Given the description of an element on the screen output the (x, y) to click on. 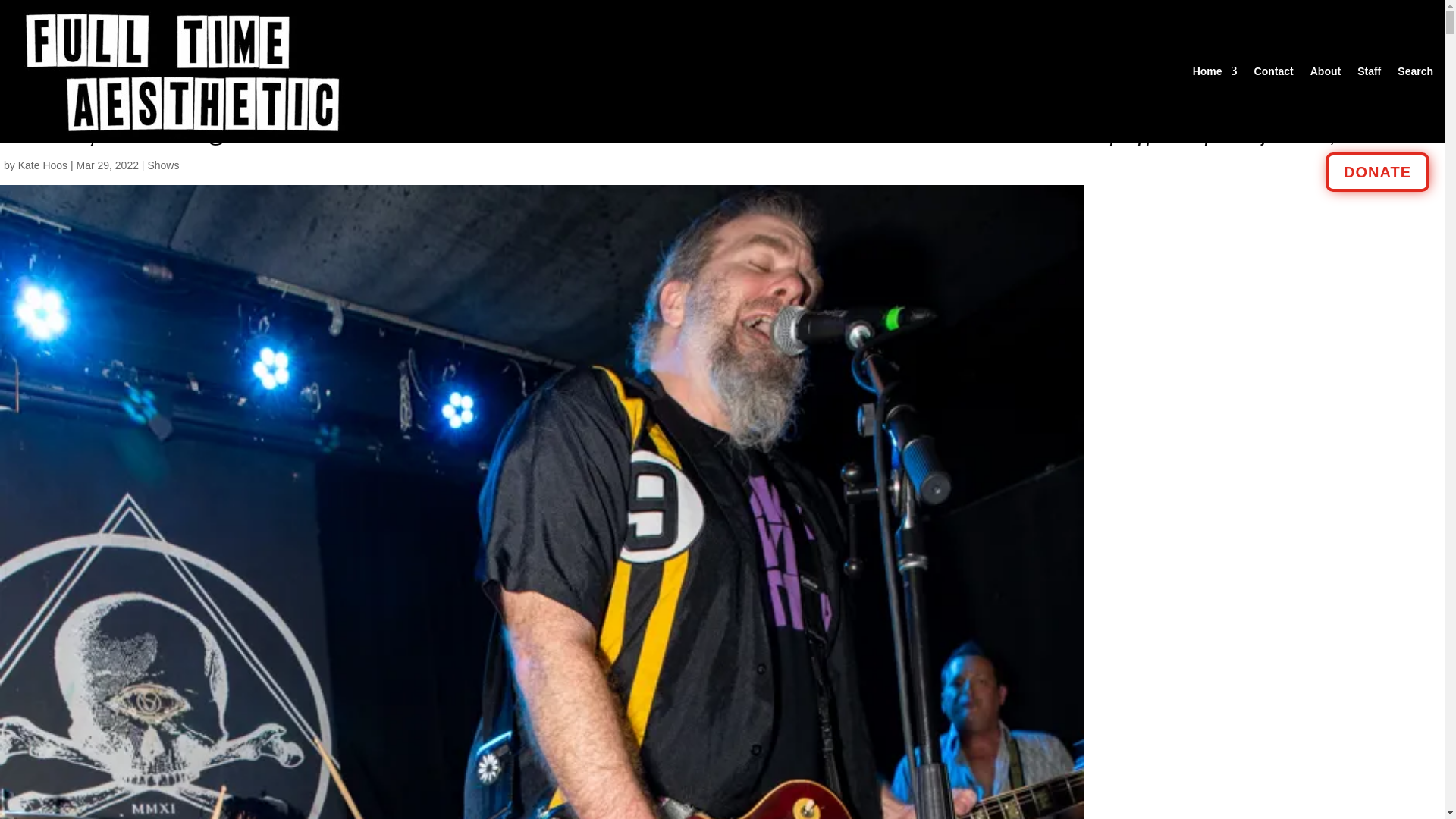
Home (1214, 71)
Search (1414, 71)
DONATE (1376, 171)
Staff (1368, 71)
Contact (1273, 71)
Kate Hoos (41, 164)
About (1325, 71)
Posts by Kate Hoos (41, 164)
Shows (163, 164)
